Given the description of an element on the screen output the (x, y) to click on. 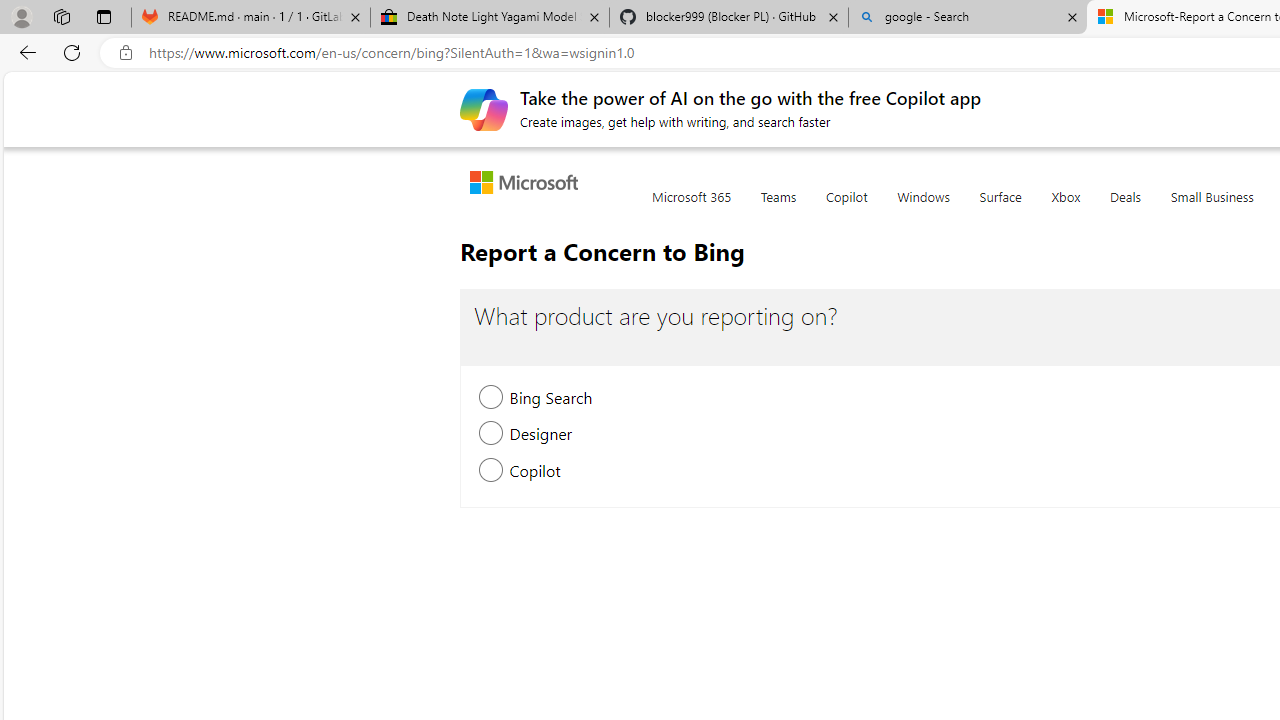
Windows (923, 207)
